Given the description of an element on the screen output the (x, y) to click on. 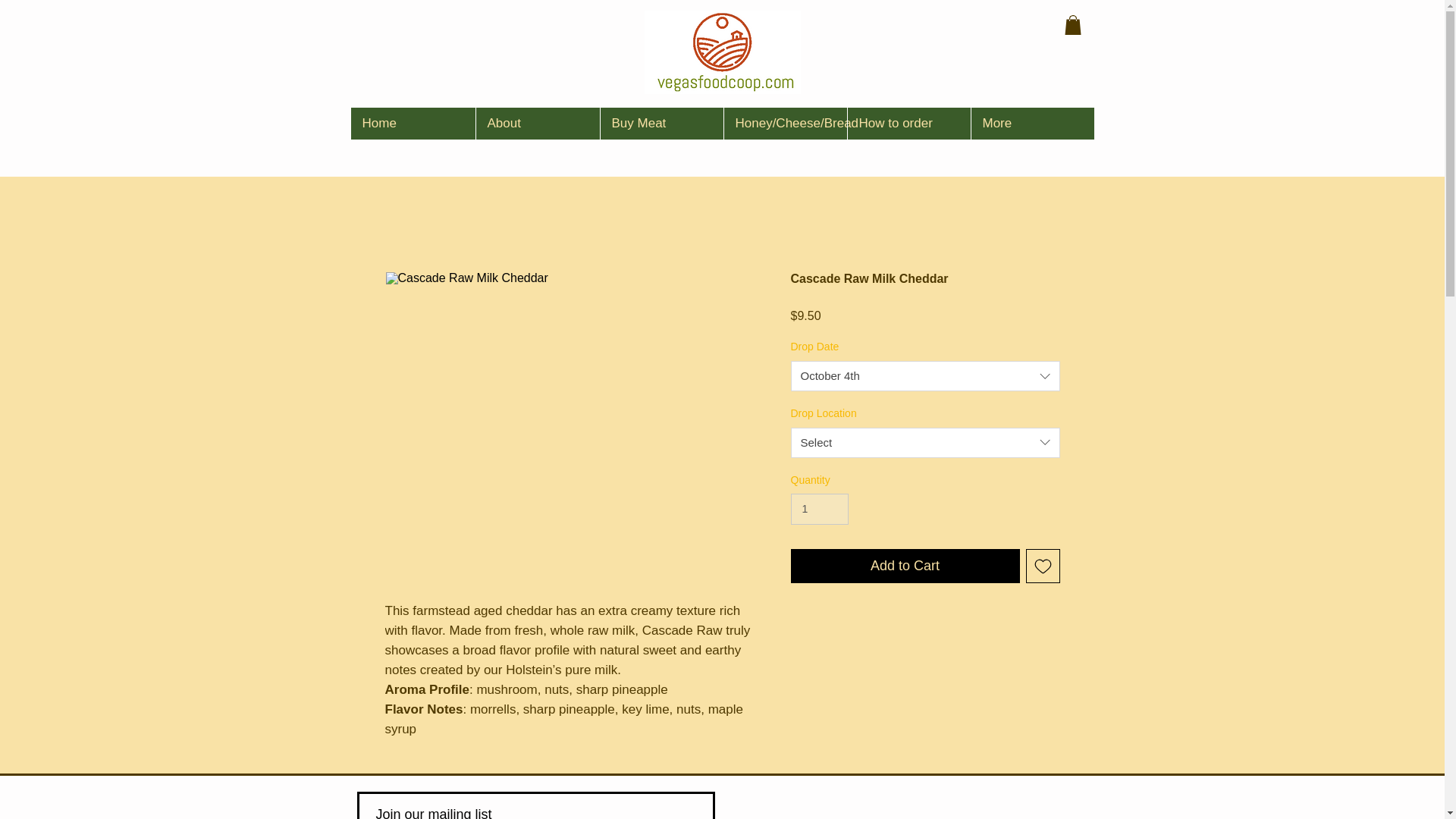
Add to Cart (904, 565)
Home (412, 123)
How to order (907, 123)
About (536, 123)
Select (924, 442)
October 4th (924, 376)
1 (818, 508)
Buy Meat (660, 123)
